Given the description of an element on the screen output the (x, y) to click on. 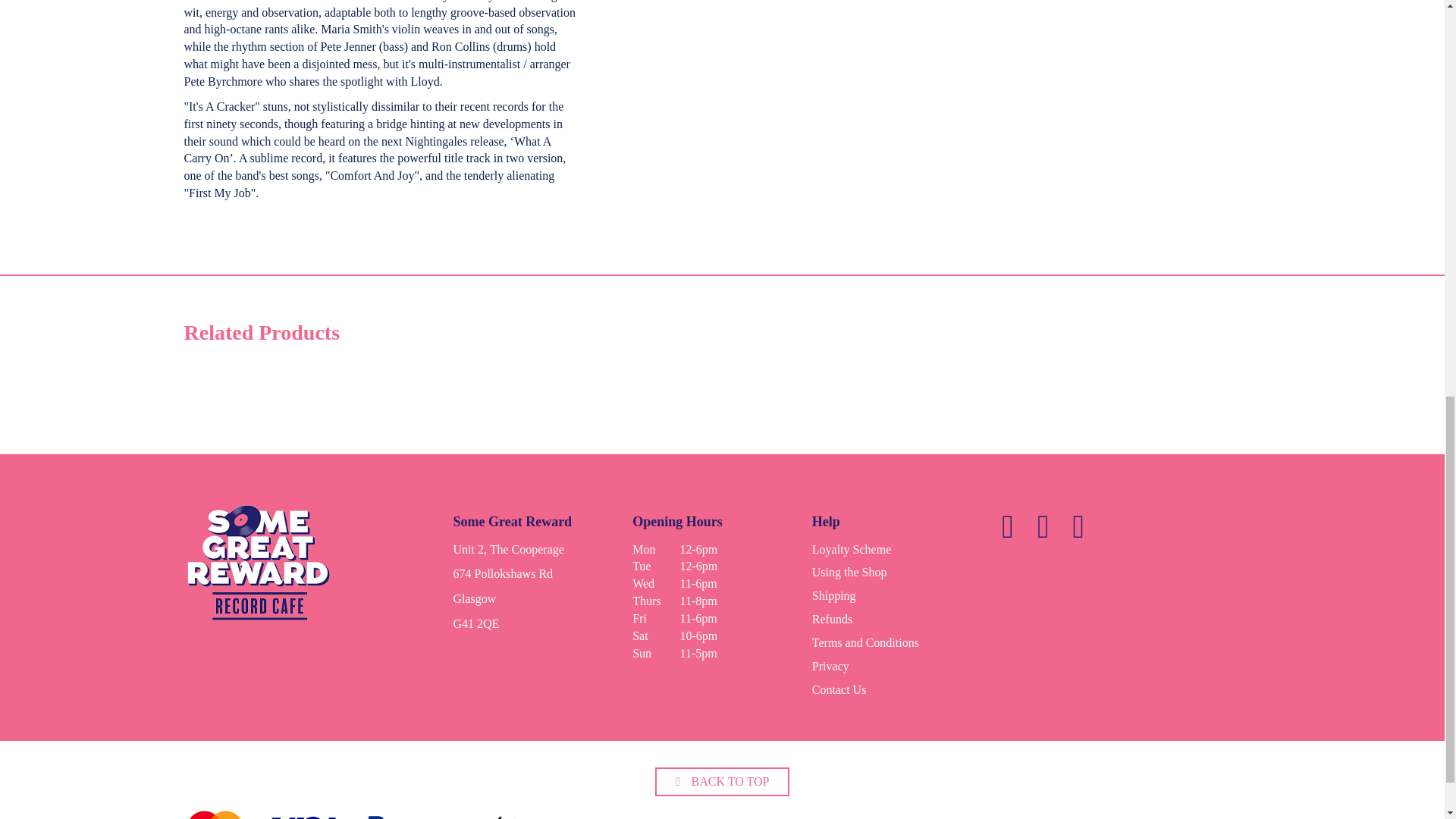
Some Great Reward (258, 566)
